Given the description of an element on the screen output the (x, y) to click on. 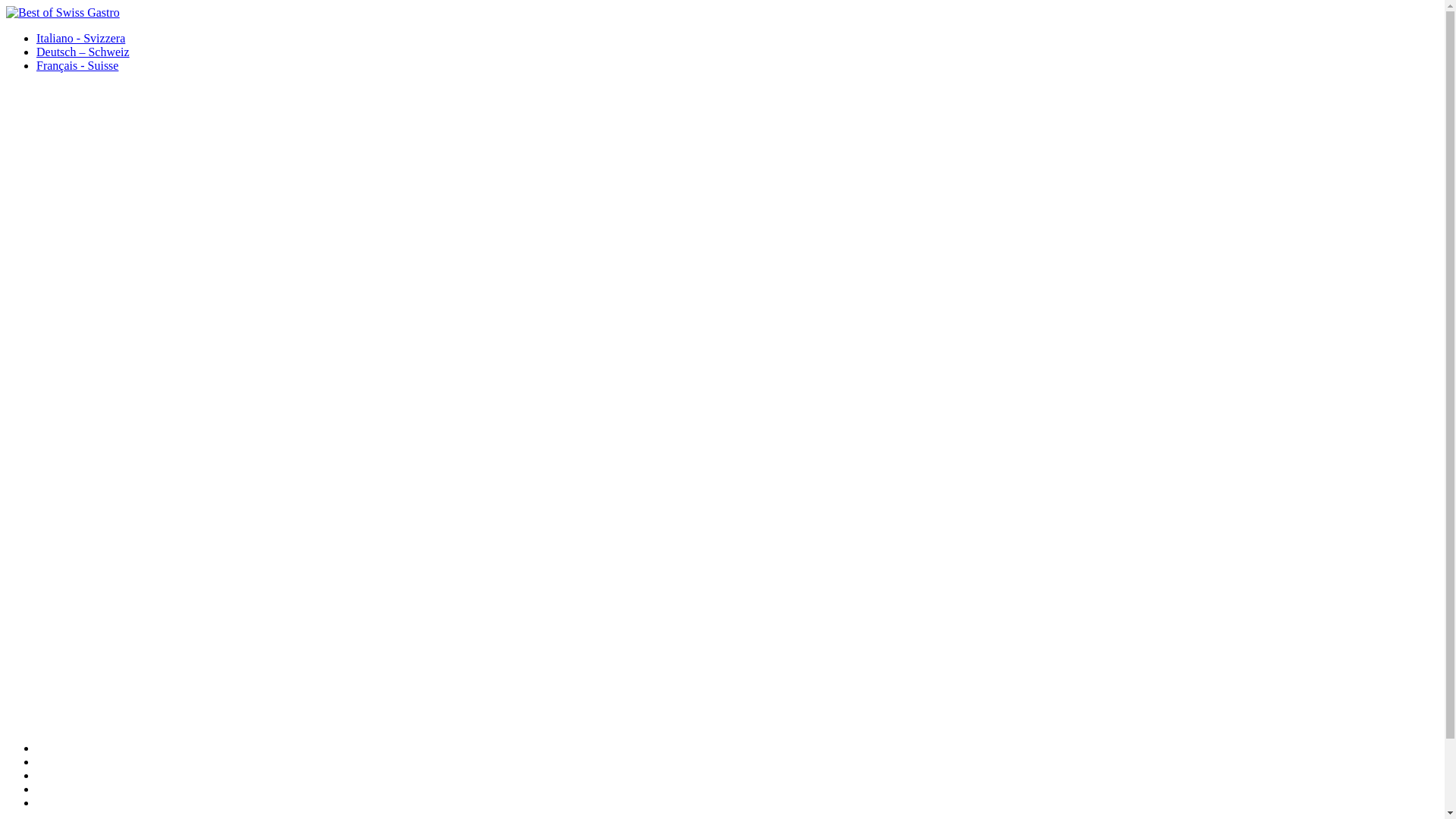
Italiano - Svizzera Element type: text (80, 37)
Best of Swiss Gastro Element type: hover (62, 12)
